Given the description of an element on the screen output the (x, y) to click on. 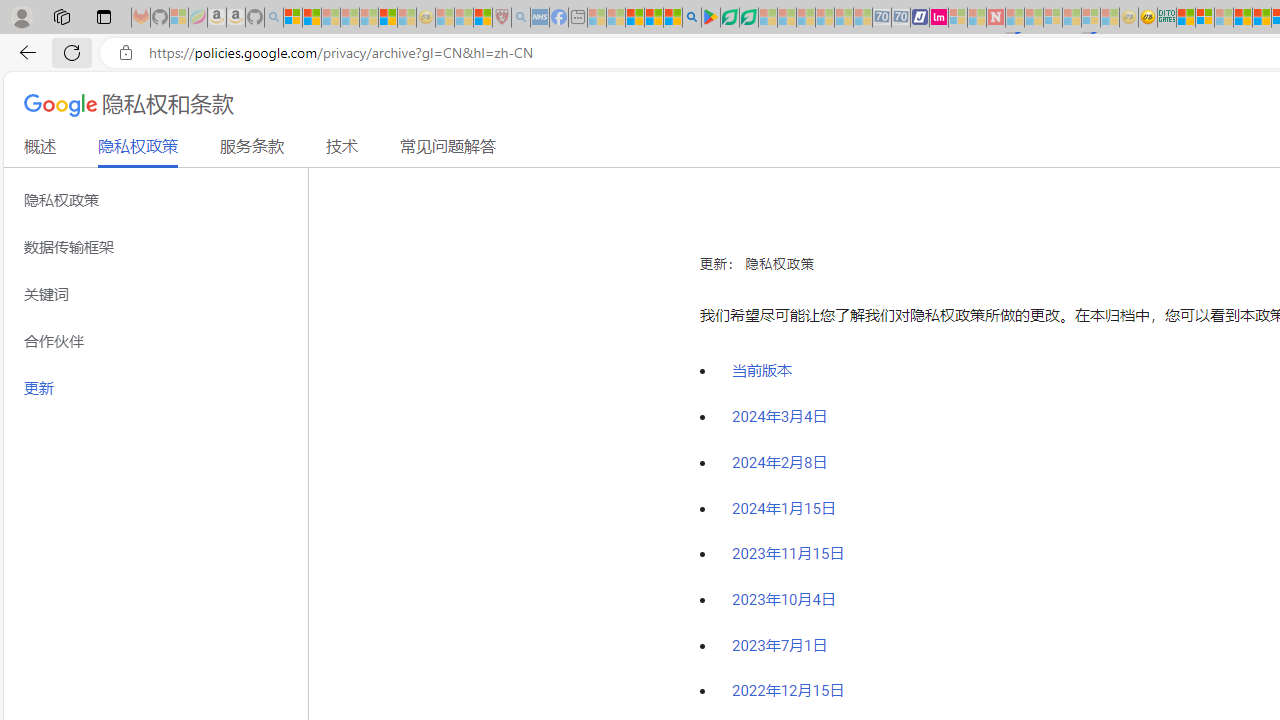
Microsoft Word - consumer-privacy address update 2.2021 (748, 17)
